Given the description of an element on the screen output the (x, y) to click on. 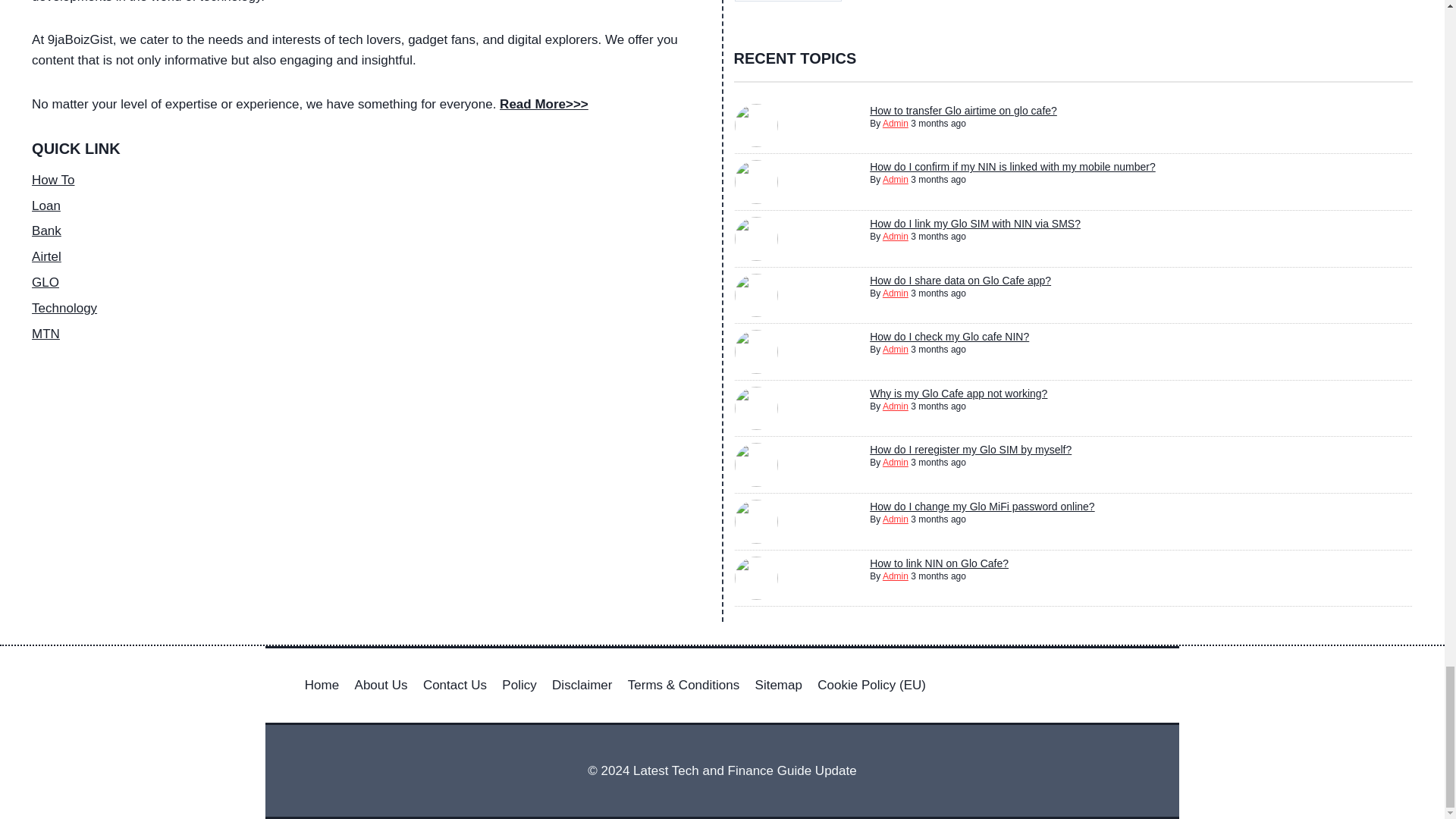
How to transfer Glo airtime on glo cafe? (963, 110)
Admin (895, 348)
Admin (895, 122)
How do I confirm if my NIN is linked with my mobile number? (1012, 166)
Admin (895, 235)
Admin (895, 293)
Admin (895, 406)
Why is my Glo Cafe app not working? (957, 393)
Admin (895, 179)
How do I link my Glo SIM with NIN via SMS? (974, 223)
